Given the description of an element on the screen output the (x, y) to click on. 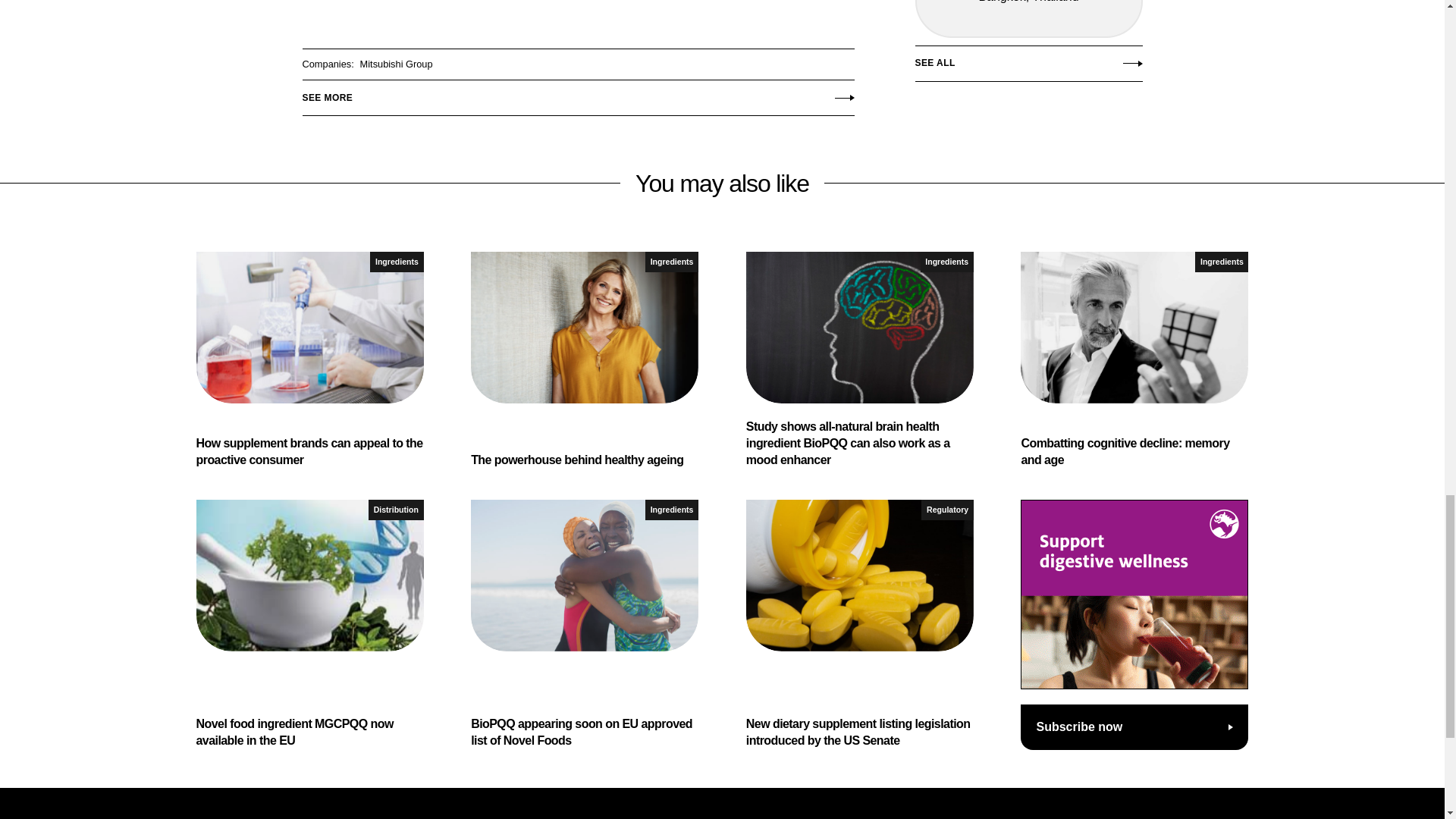
Ingredients (671, 261)
SEE ALL (1027, 67)
Ingredients (396, 261)
SEE MORE (577, 93)
How supplement brands can appeal to the proactive consumer (309, 360)
